Given the description of an element on the screen output the (x, y) to click on. 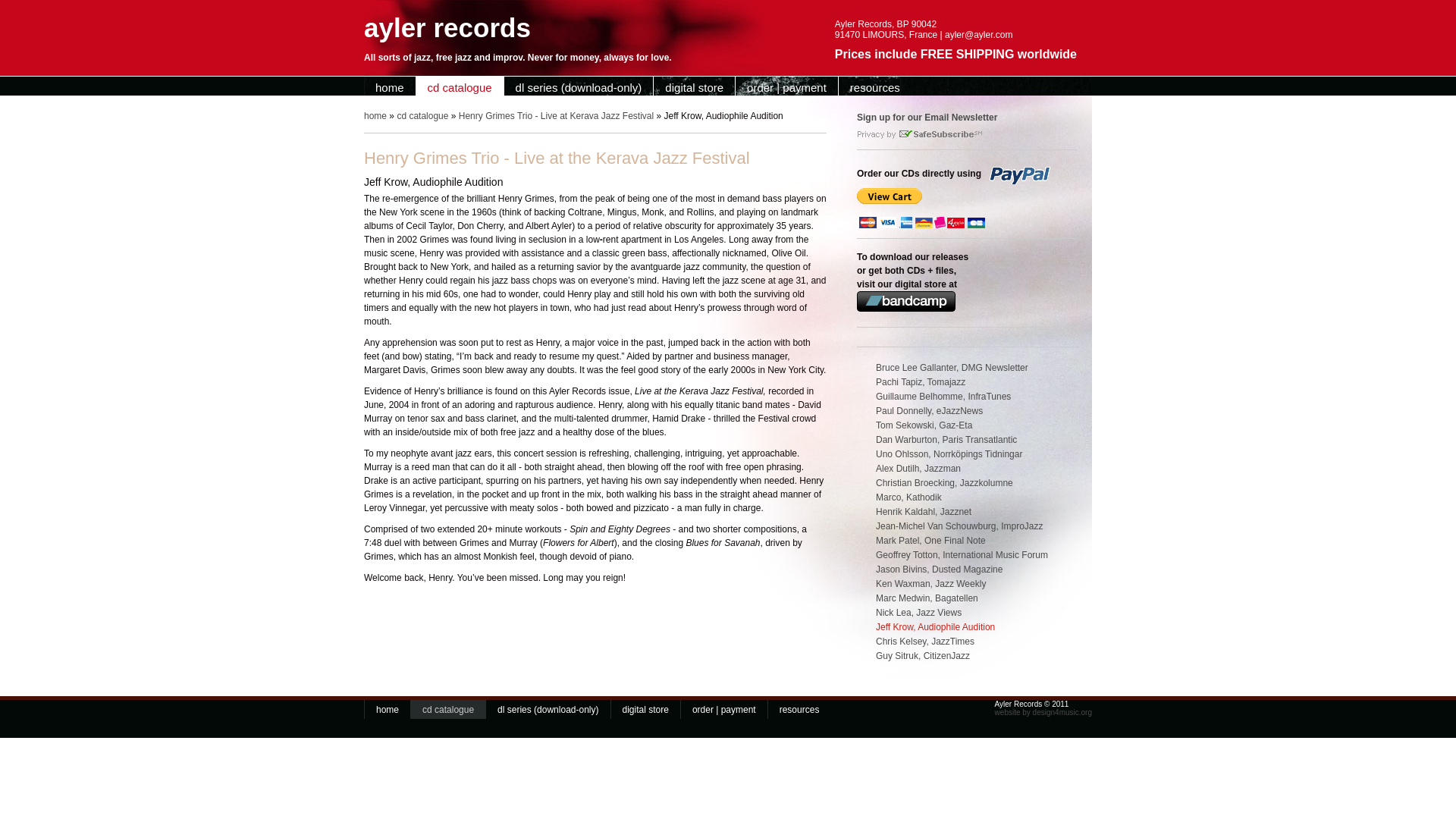
Henry Grimes Trio - Live at the Kerava Jazz Festival (967, 412)
Guy Sitruk, CitizenJazz (967, 657)
Christian Broecking, Jazzkolumne (967, 484)
home (389, 87)
all sorts of jazz, improv or else - hot off the press (389, 87)
Henry Grimes Trio - Live at the Kerava Jazz Festival (967, 455)
Pachi Tapiz, Tomajazz (967, 383)
home (387, 709)
Marco, Kathodik (967, 499)
